Given the description of an element on the screen output the (x, y) to click on. 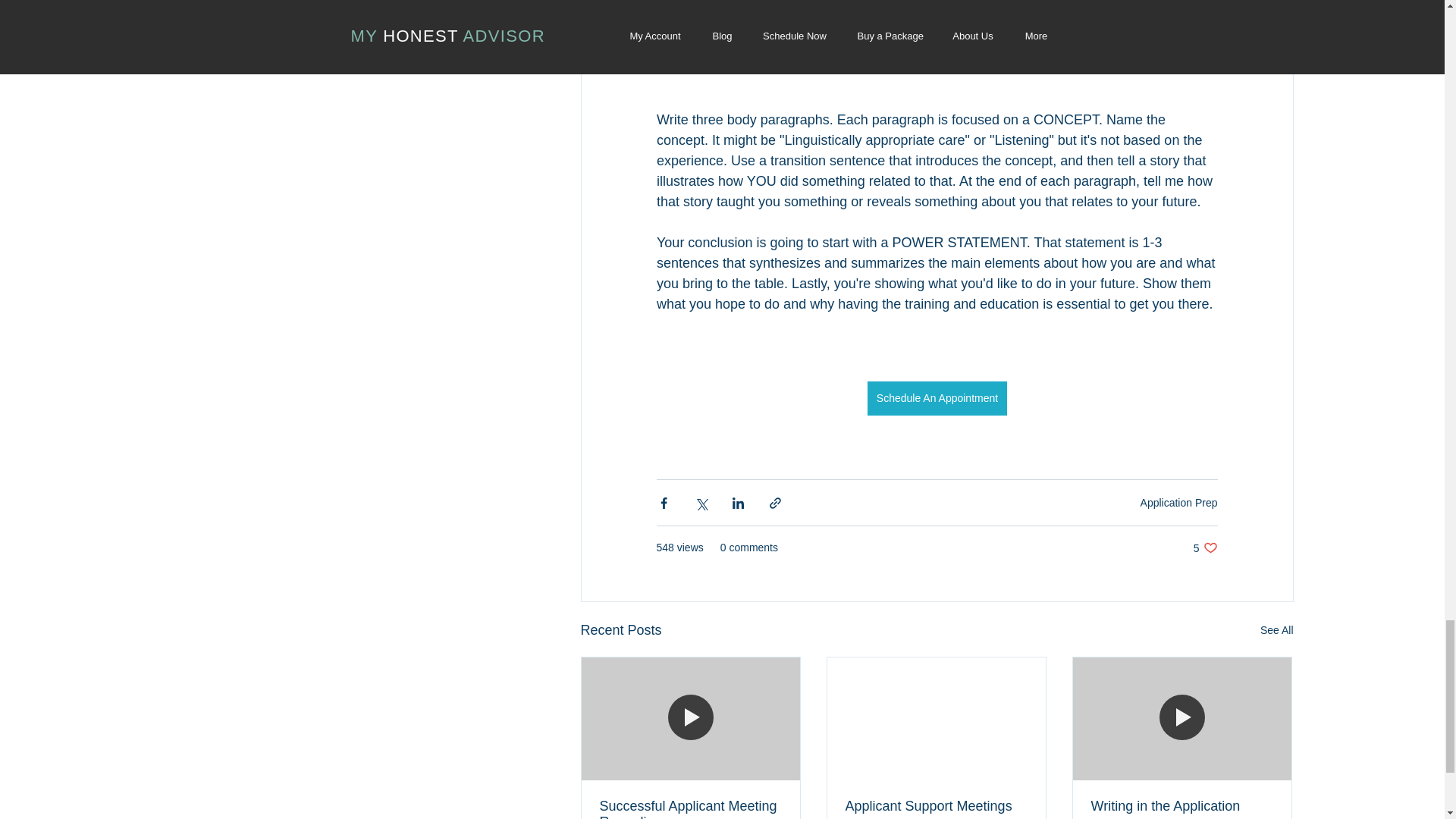
Schedule An Appointment (1205, 547)
Successful Applicant Meeting Recording (936, 398)
Application Prep (689, 808)
See All (1178, 502)
Applicant Support Meetings (1277, 630)
Writing in the Application (935, 806)
